Given the description of an element on the screen output the (x, y) to click on. 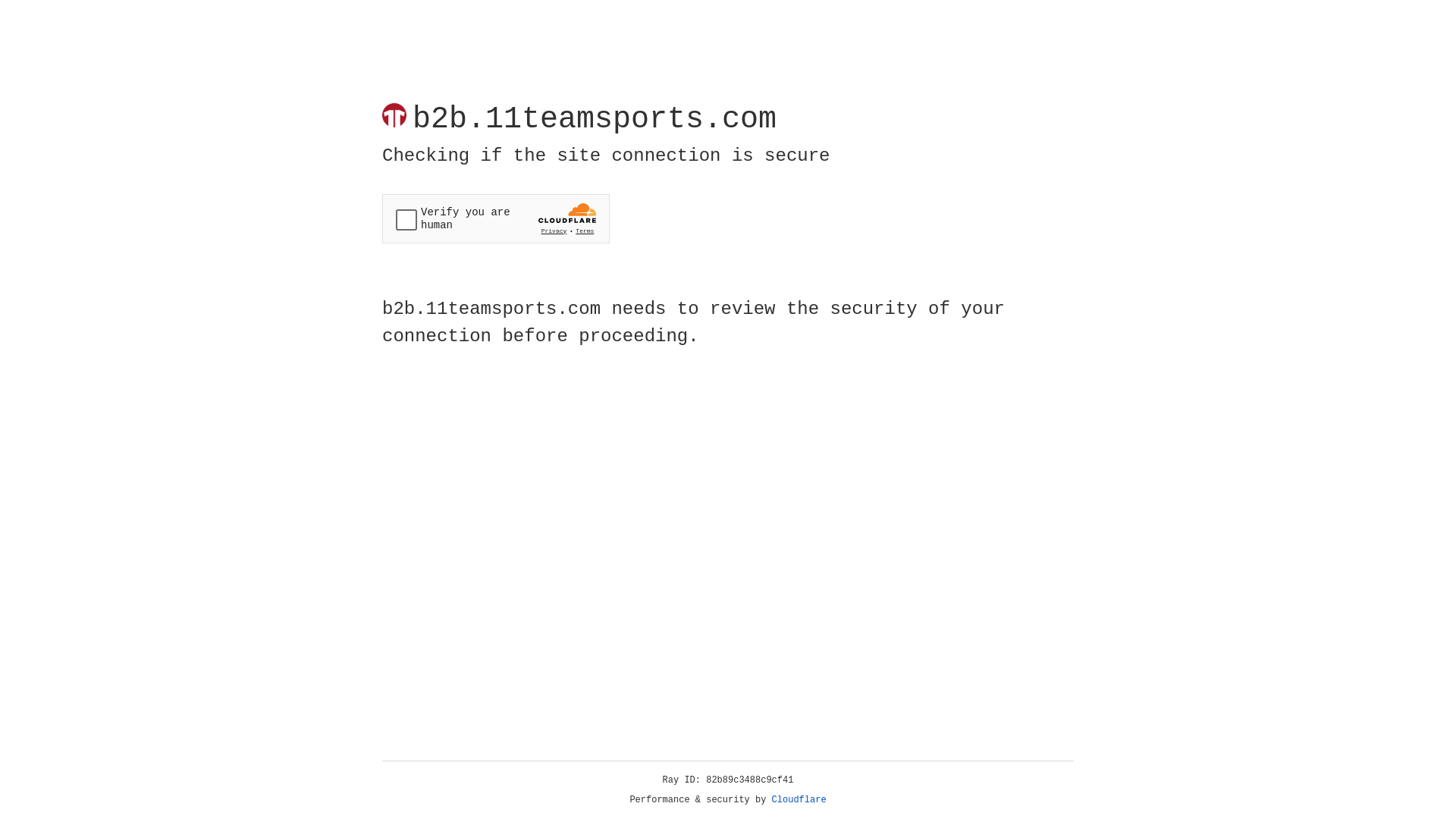
Widget containing a Cloudflare security challenge Element type: hover (495, 218)
Cloudflare Element type: text (798, 799)
